Given the description of an element on the screen output the (x, y) to click on. 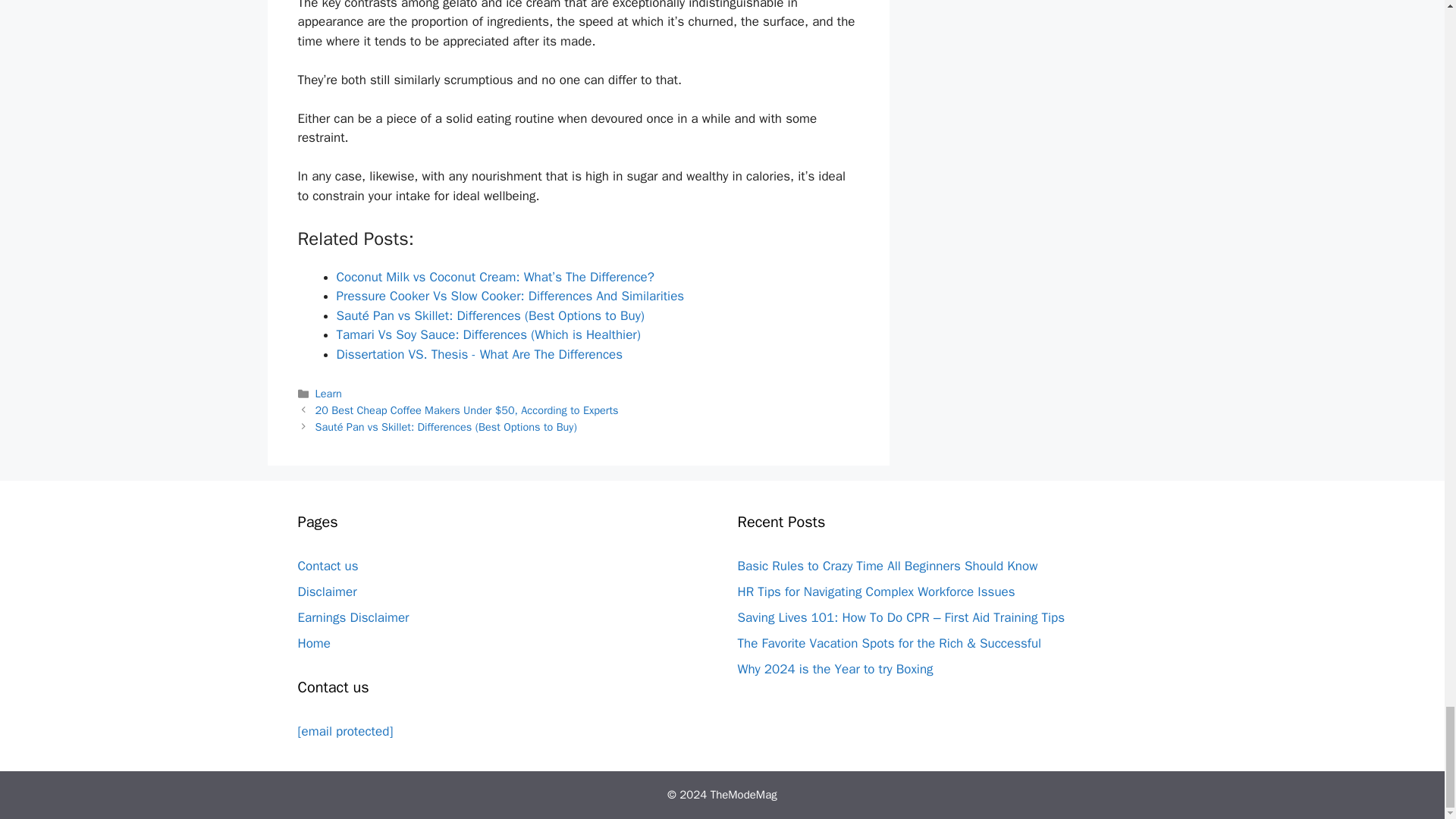
Learn (328, 393)
Dissertation VS. Thesis - What Are The Differences (479, 354)
Pressure Cooker Vs Slow Cooker: Differences And Similarities (510, 295)
